Given the description of an element on the screen output the (x, y) to click on. 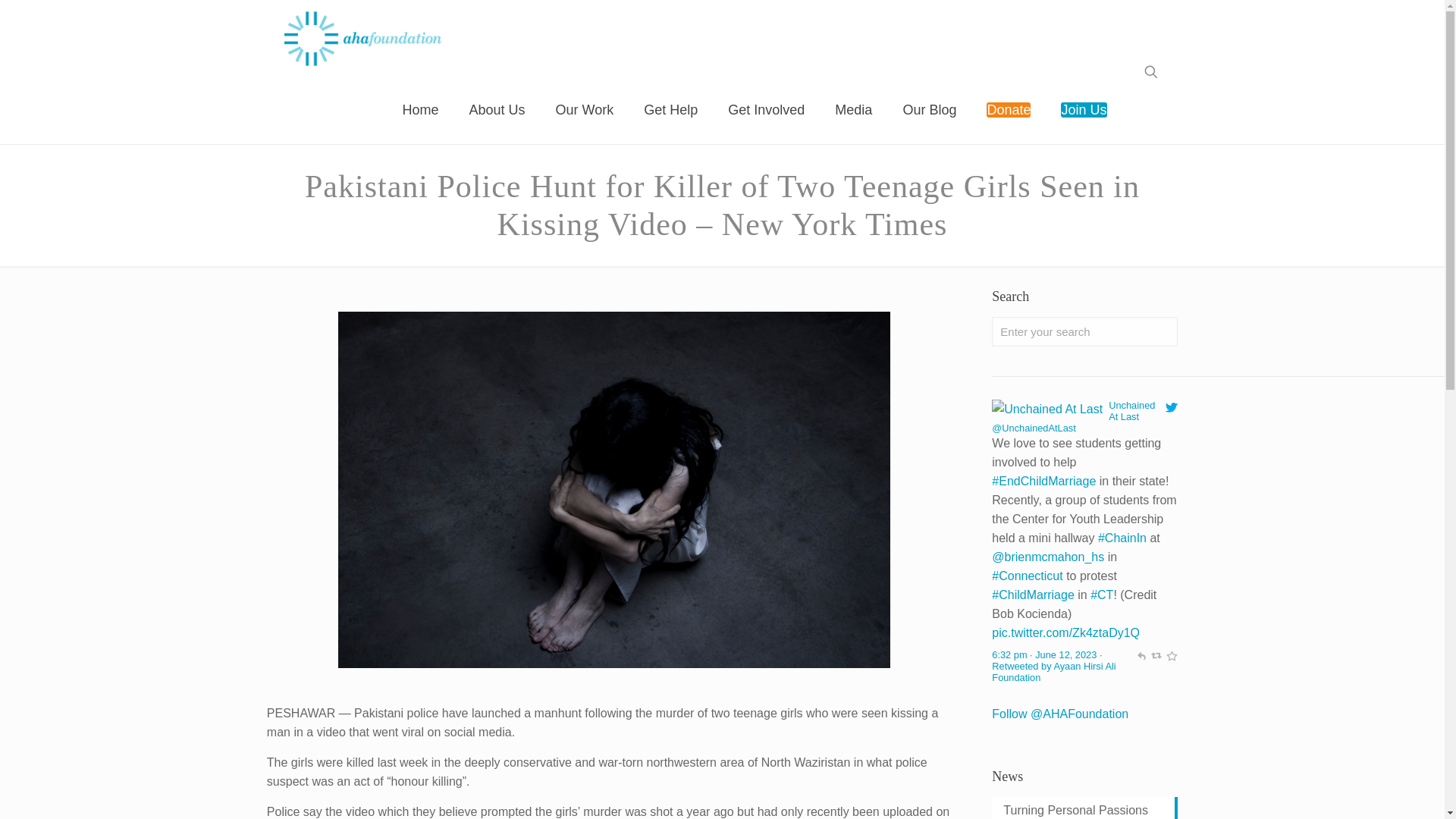
Get Involved (766, 110)
Get Help (670, 110)
Our Work (584, 110)
About Us (496, 110)
Home (419, 110)
AHA Foundation (362, 38)
